Given the description of an element on the screen output the (x, y) to click on. 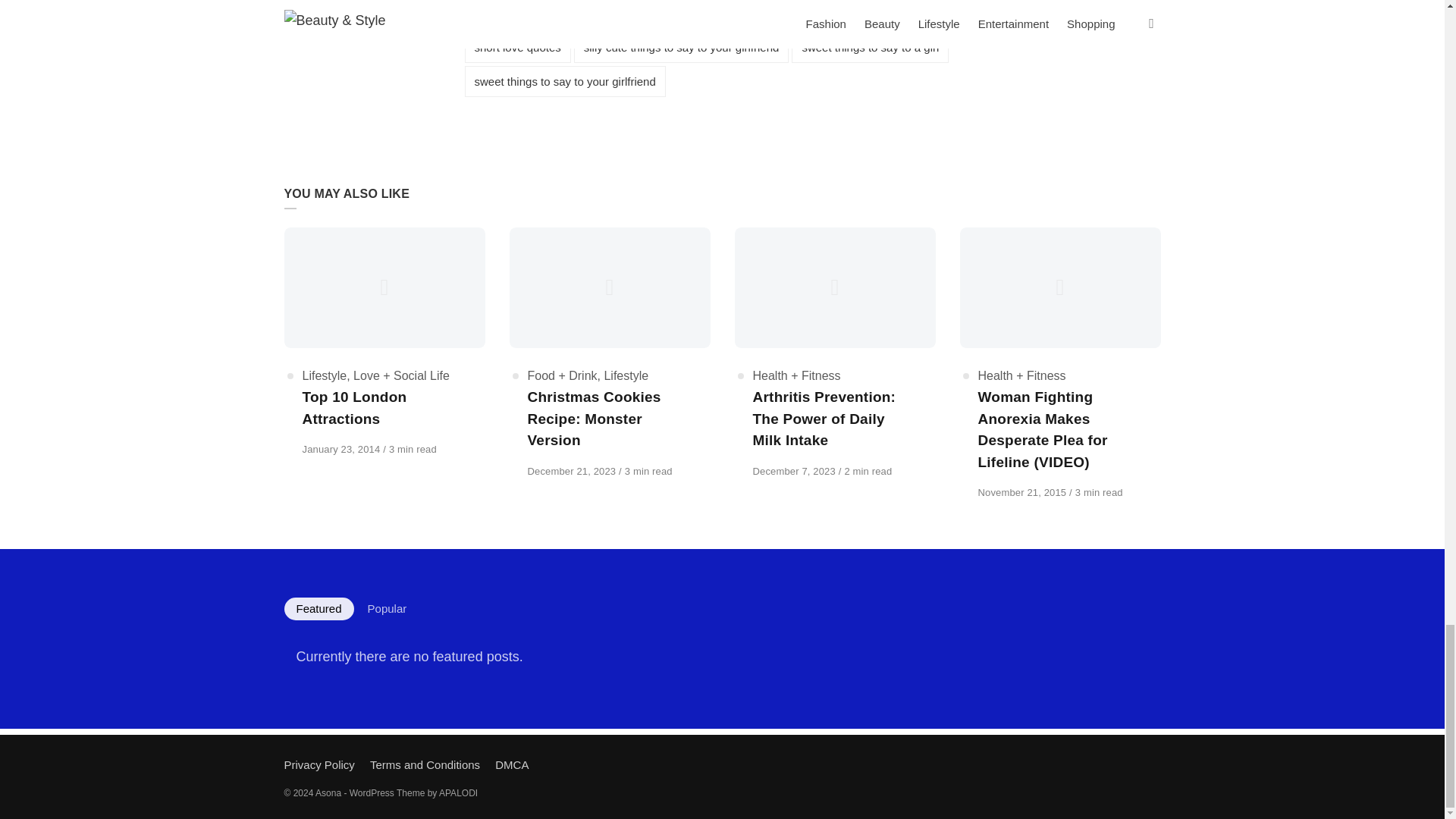
short love quotes (517, 47)
sweet things to say to your girlfriend (564, 81)
nice things to say to your girlfriend (560, 14)
January 23, 2014 (341, 449)
sweet things to say to a girl (870, 47)
quotes (786, 14)
quotefriendship (708, 14)
silly cute things to say to your girlfriend (681, 47)
sad love quotes (866, 14)
Lifestyle (323, 375)
